Given the description of an element on the screen output the (x, y) to click on. 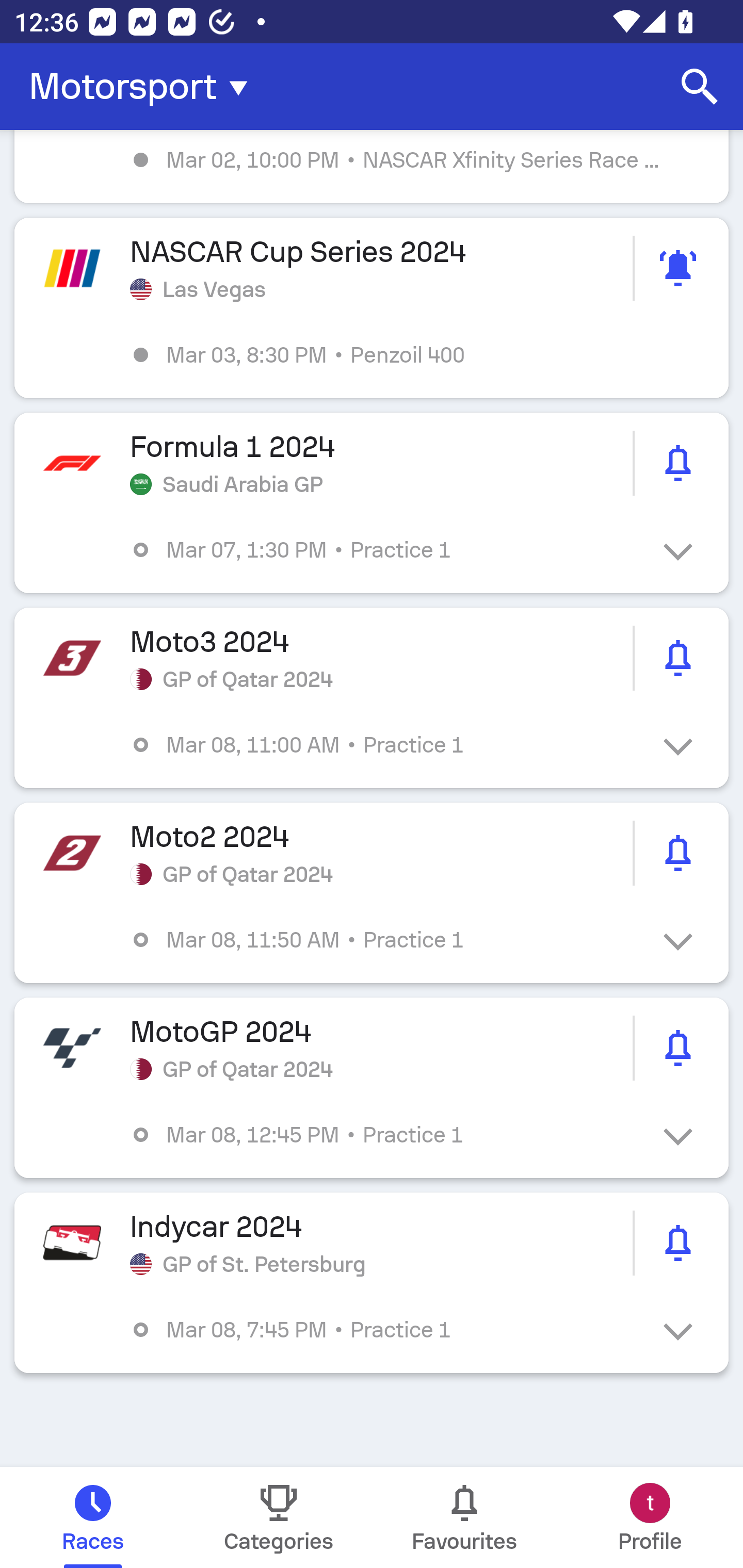
Motorsport (144, 86)
Search (699, 86)
Mar 07, 1:30 PM • Practice 1 (385, 549)
Mar 08, 11:00 AM • Practice 1 (385, 744)
Mar 08, 11:50 AM • Practice 1 (385, 939)
Mar 08, 12:45 PM • Practice 1 (385, 1134)
Mar 08, 7:45 PM • Practice 1 (385, 1329)
Categories (278, 1517)
Favourites (464, 1517)
Profile (650, 1517)
